Given the description of an element on the screen output the (x, y) to click on. 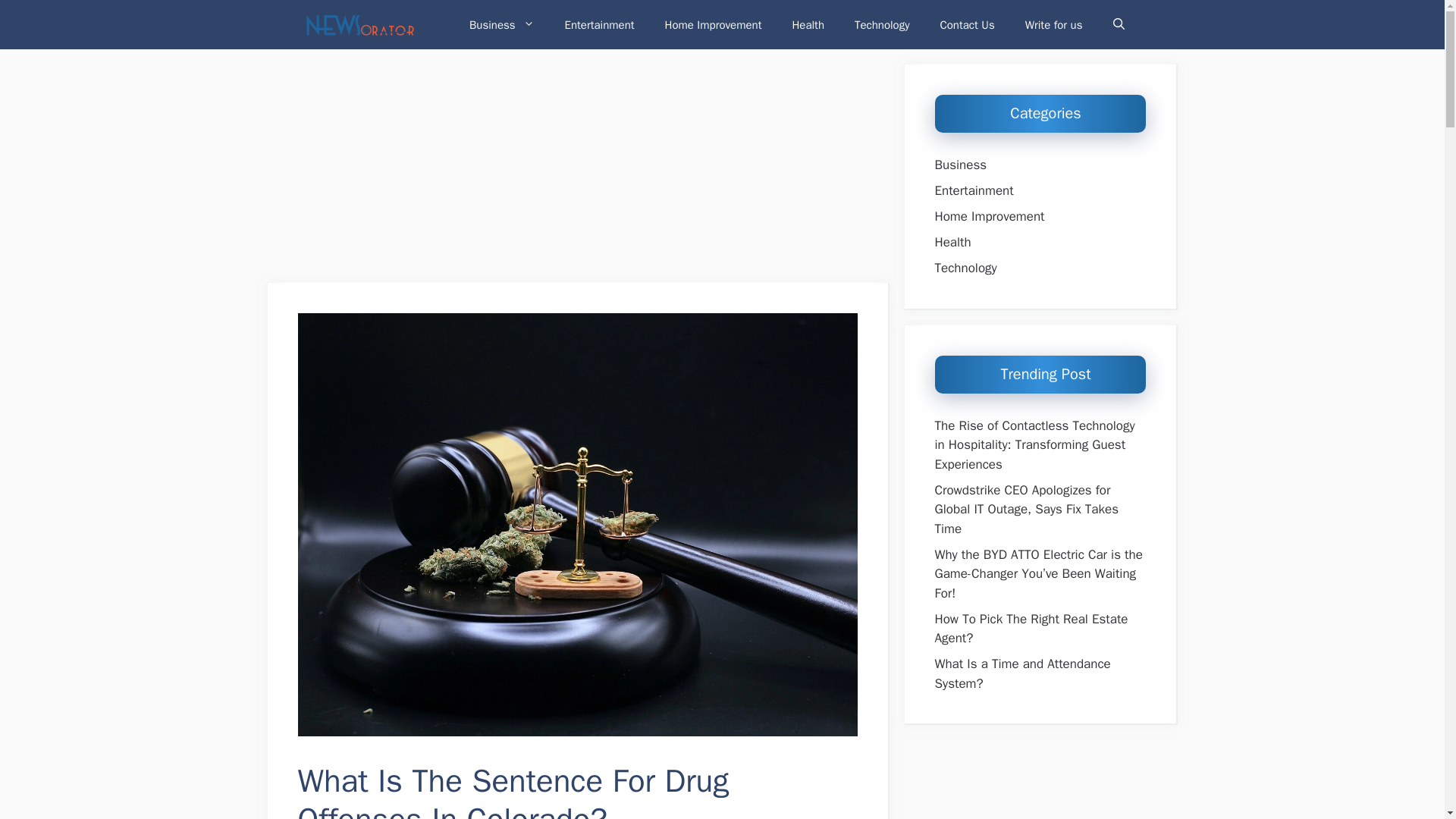
Health (808, 23)
Advertisement (577, 170)
Write for us (1053, 23)
Contact Us (967, 23)
Technology (882, 23)
Home Improvement (713, 23)
Entertainment (599, 23)
Business (502, 23)
